Given the description of an element on the screen output the (x, y) to click on. 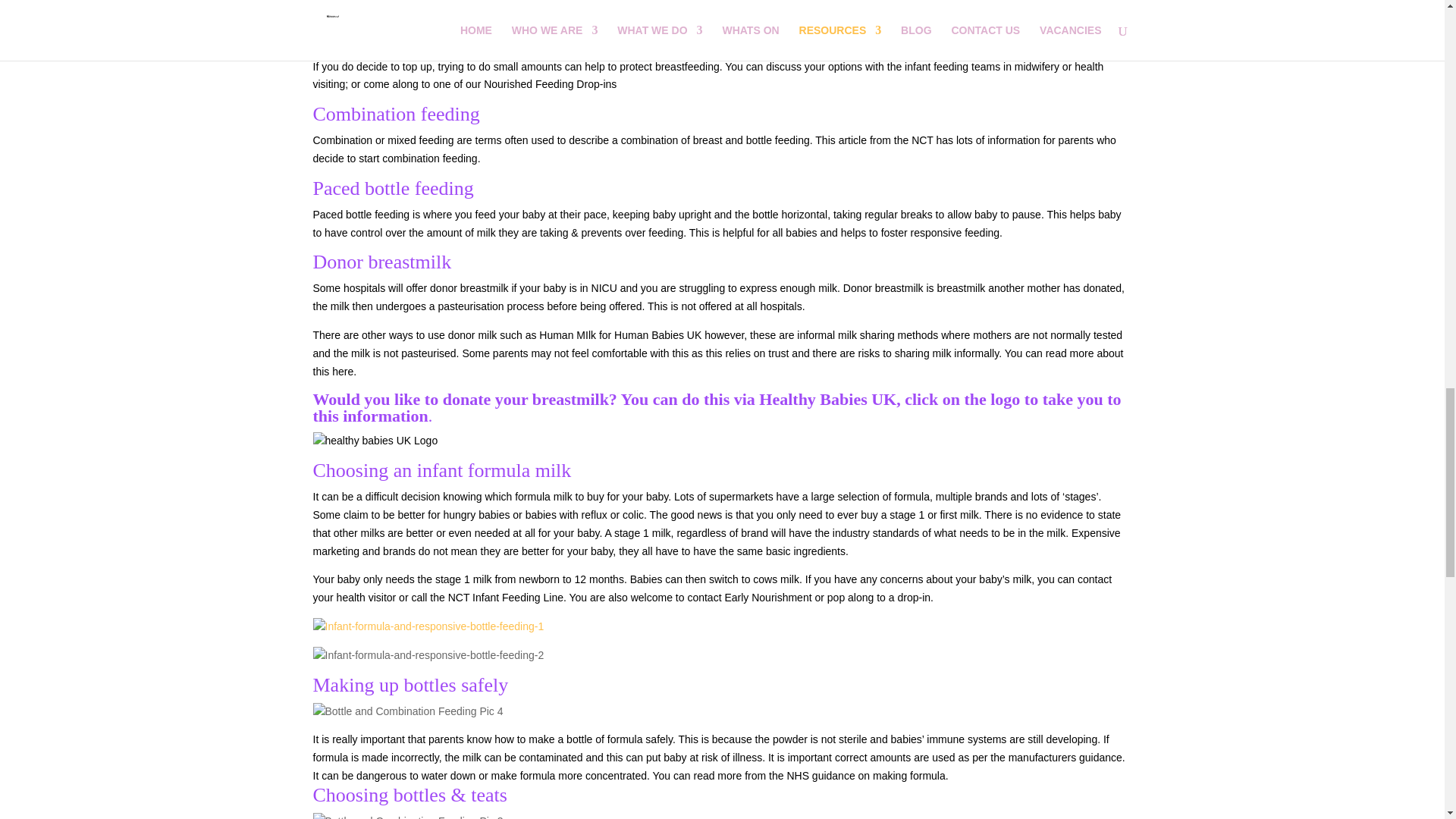
article from the NCT (885, 140)
Feeding Drop-ins (575, 83)
Human MIlk for Human Babies UK (619, 335)
Paced bottle feeding (361, 214)
